Given the description of an element on the screen output the (x, y) to click on. 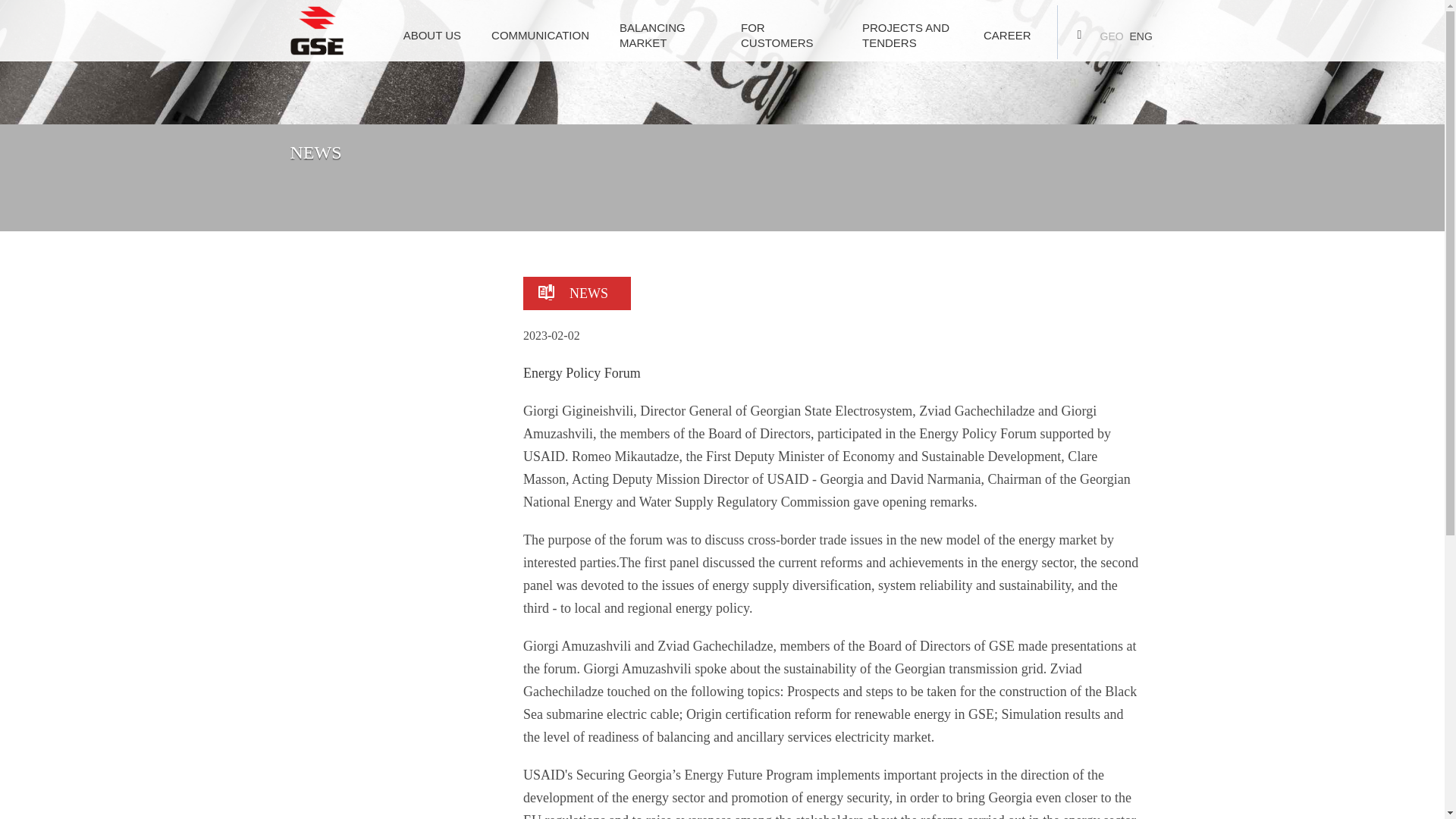
GEO (1111, 35)
 ABOUT US (432, 31)
ENG (1140, 35)
ABOUT US menu (432, 31)
